Given the description of an element on the screen output the (x, y) to click on. 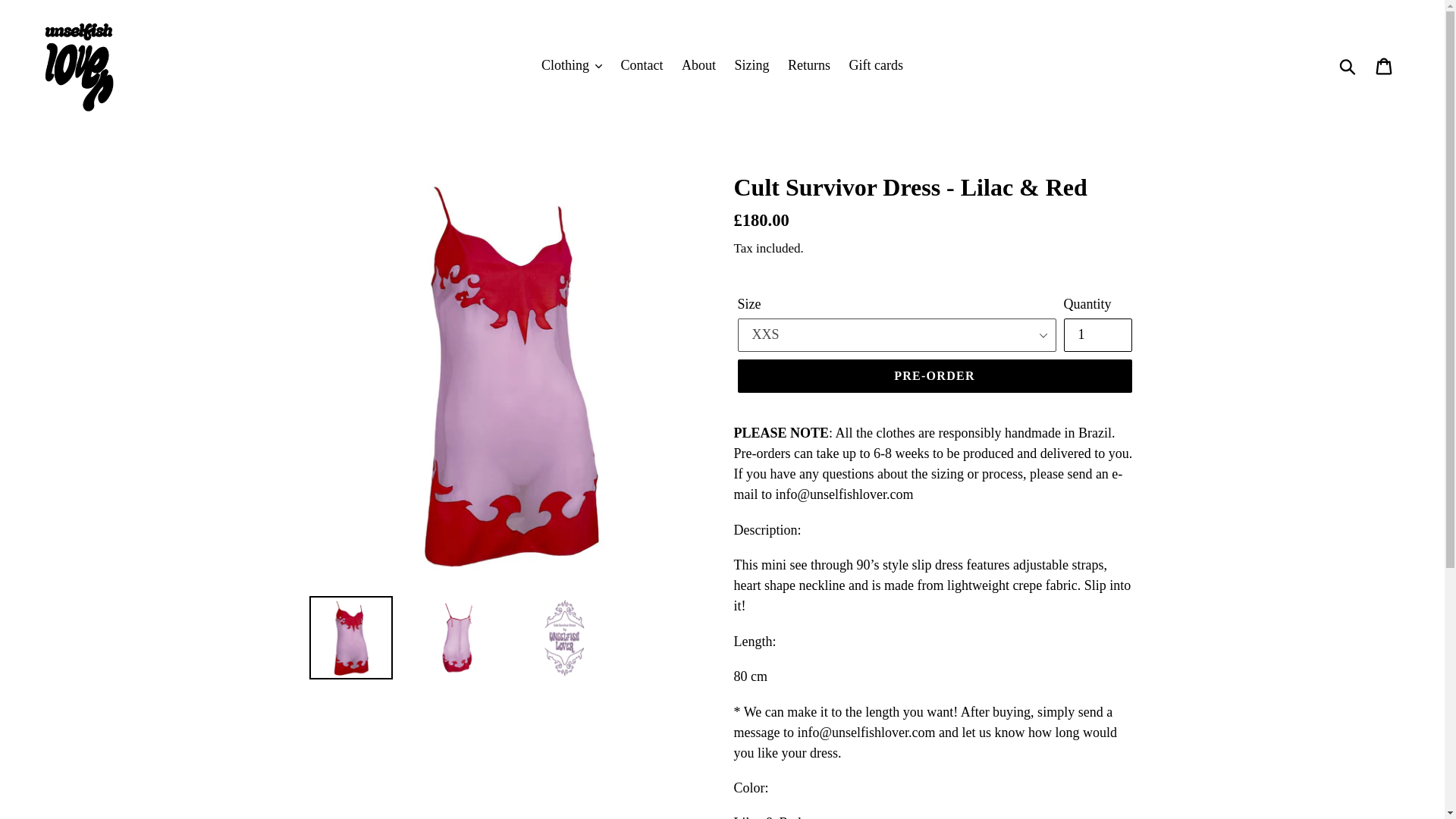
Submit (1348, 64)
1 (1096, 335)
Contact (640, 65)
About (698, 65)
Sizing (751, 65)
Gift cards (876, 65)
PRE-ORDER (933, 376)
Returns (809, 65)
Cart (1385, 64)
